Given the description of an element on the screen output the (x, y) to click on. 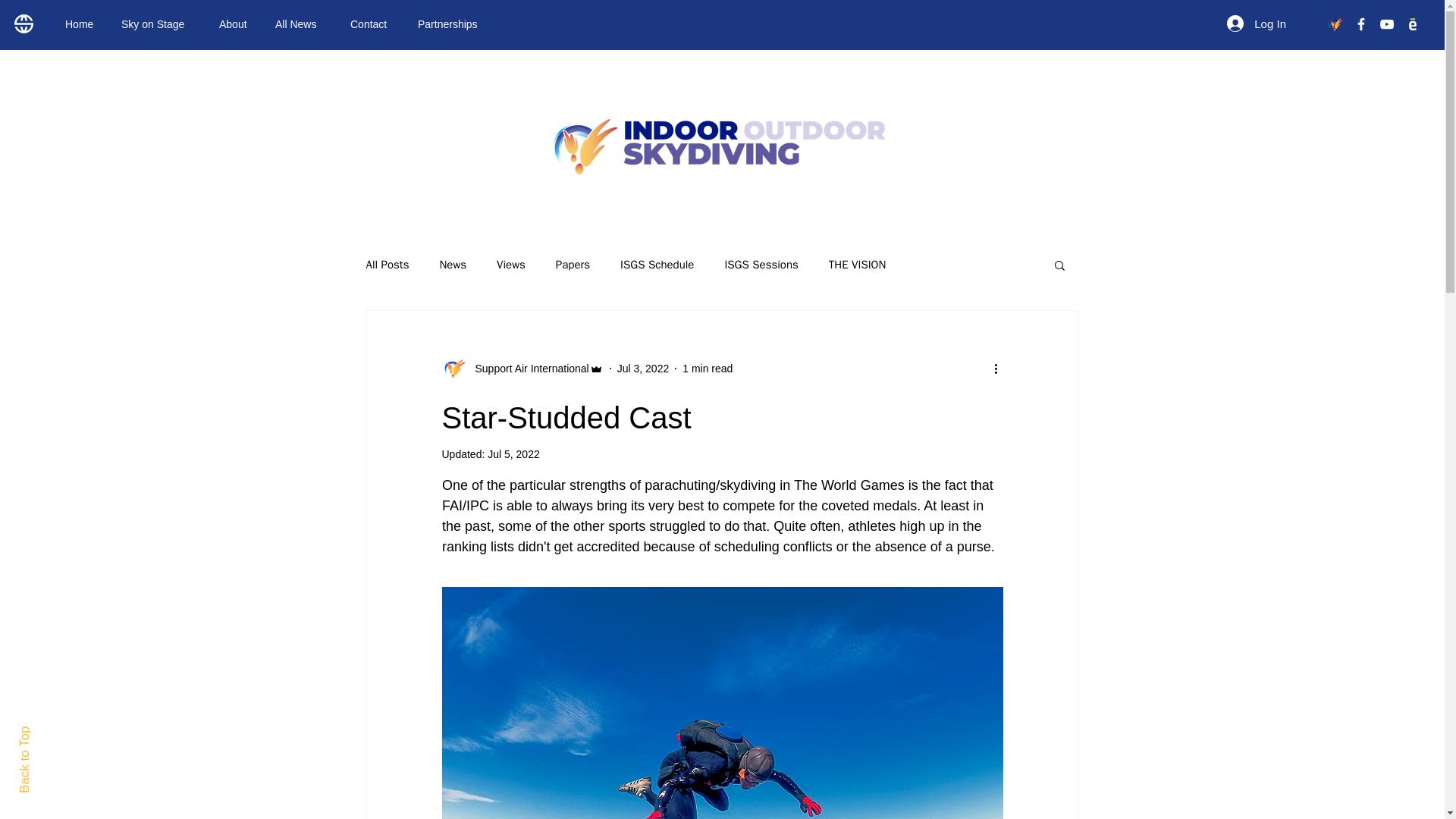
Sky on Stage (159, 24)
Jul 3, 2022 (643, 368)
Back to Top (50, 732)
News (452, 264)
About (235, 24)
ISGS Sessions (760, 264)
Jul 5, 2022 (513, 453)
Papers (572, 264)
1 min read (707, 368)
Home (81, 24)
